Given the description of an element on the screen output the (x, y) to click on. 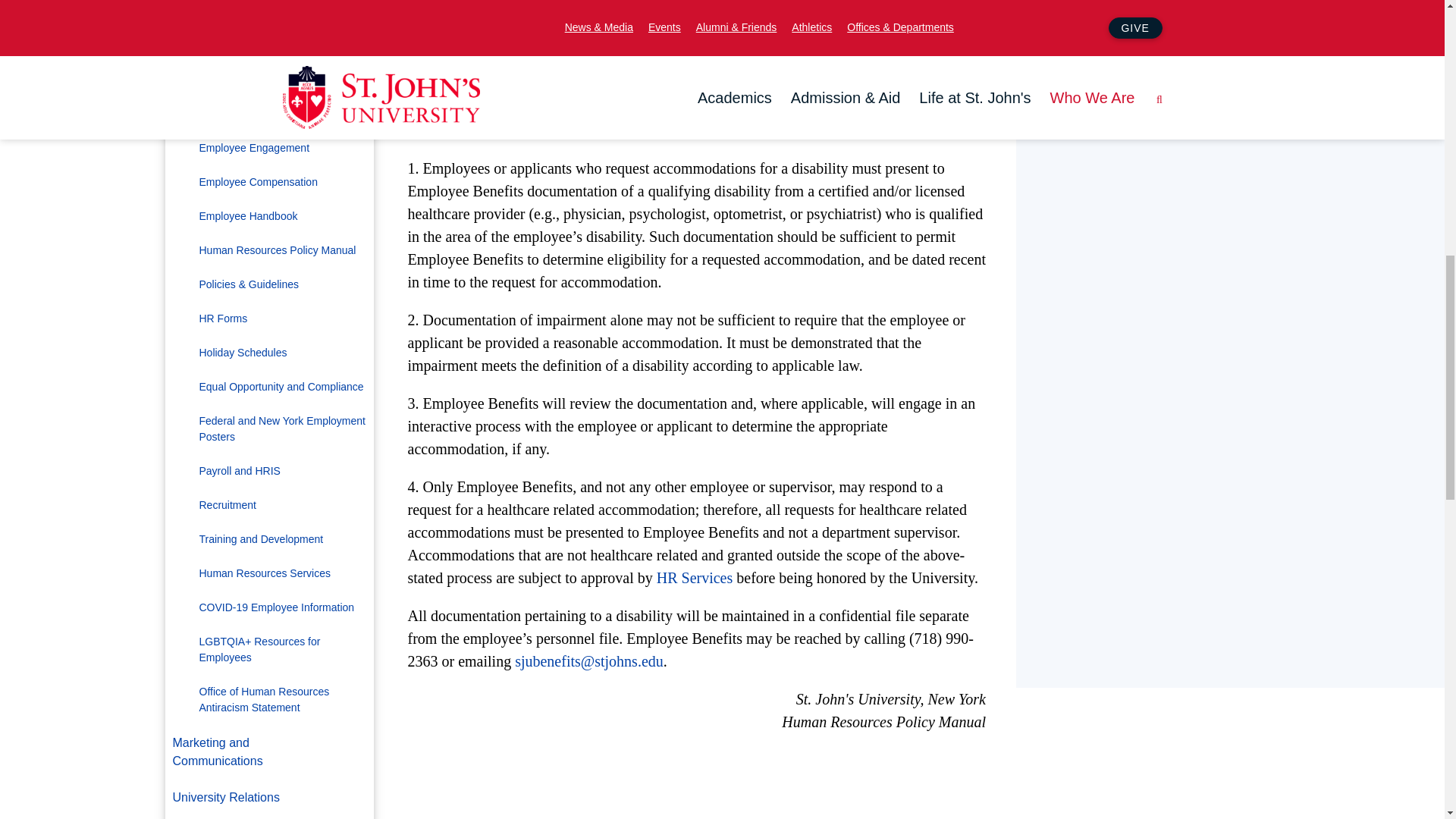
Human Resources Services (694, 577)
